Given the description of an element on the screen output the (x, y) to click on. 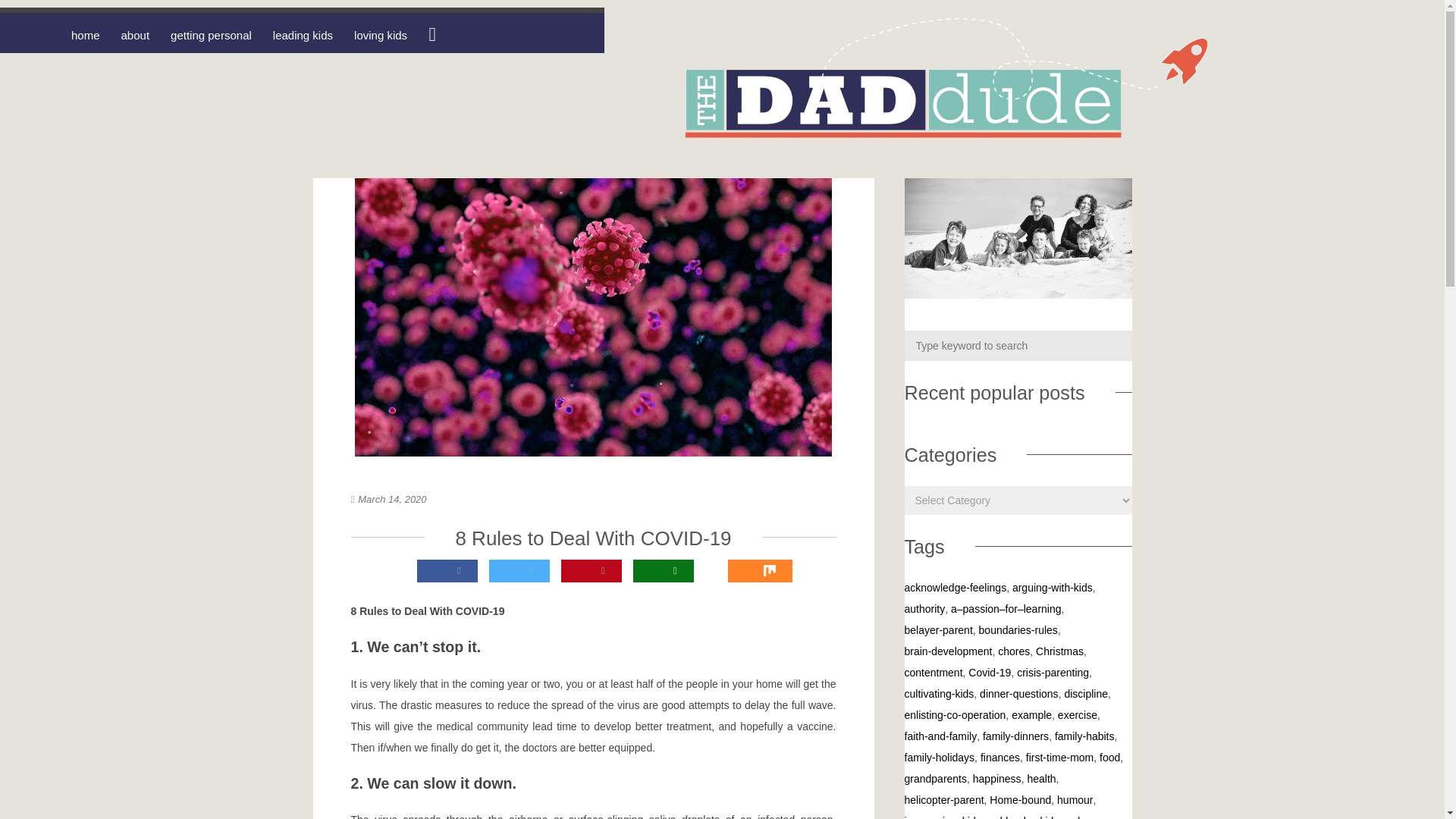
home (85, 34)
Type keyword to search (1017, 345)
Type keyword to search (1017, 345)
acknowledge-feelings (955, 587)
leading kids (303, 34)
about (134, 34)
loving kids (380, 34)
March 14, 2020 (392, 499)
getting personal (210, 34)
arguing-with-kids (1052, 587)
